Given the description of an element on the screen output the (x, y) to click on. 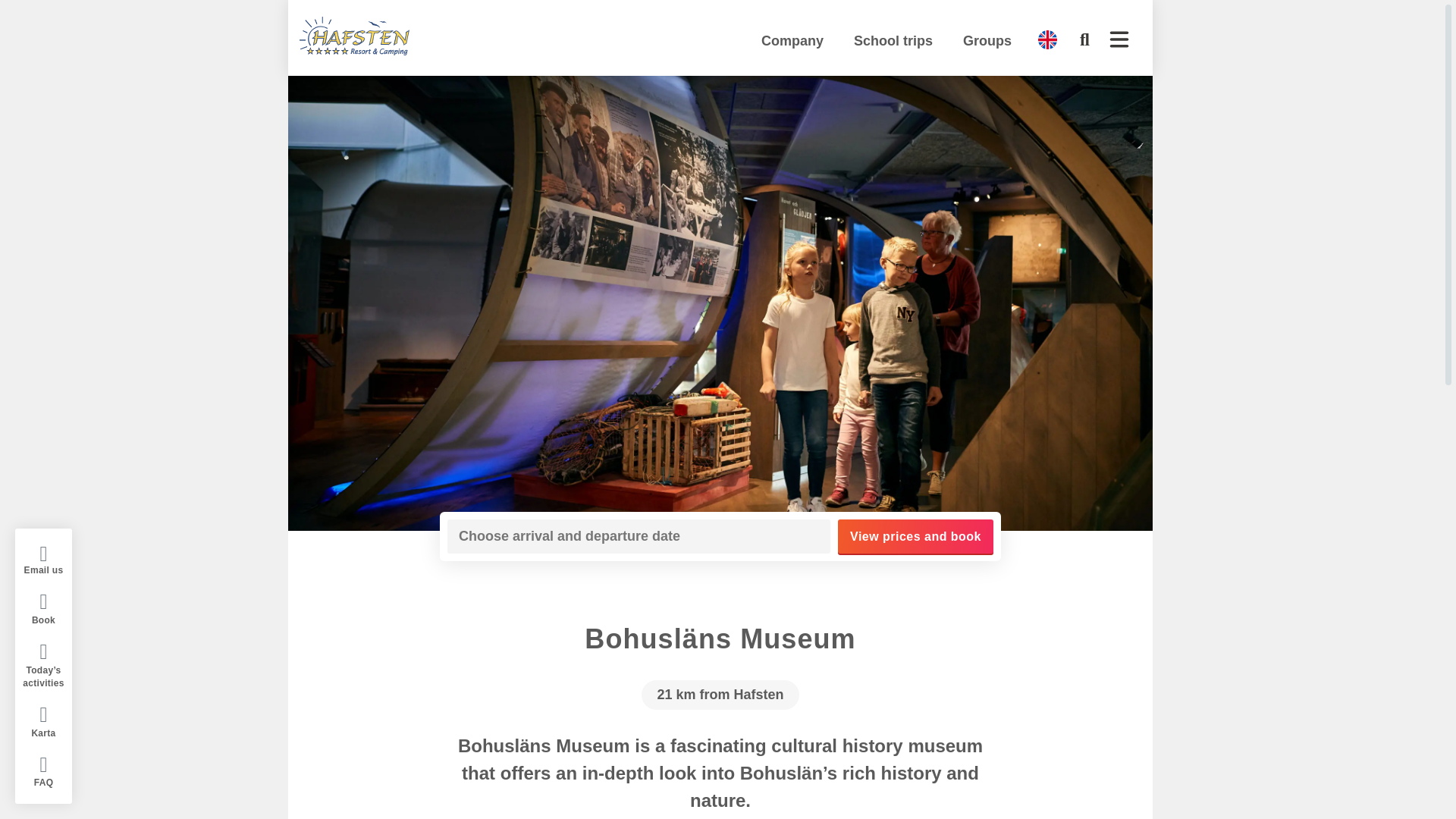
Karta (42, 721)
View prices and book (915, 536)
School trips (892, 40)
hafsten-logga (354, 35)
Company (791, 40)
Book (42, 608)
Groups (986, 40)
FAQ (42, 771)
Email us (42, 559)
